Given the description of an element on the screen output the (x, y) to click on. 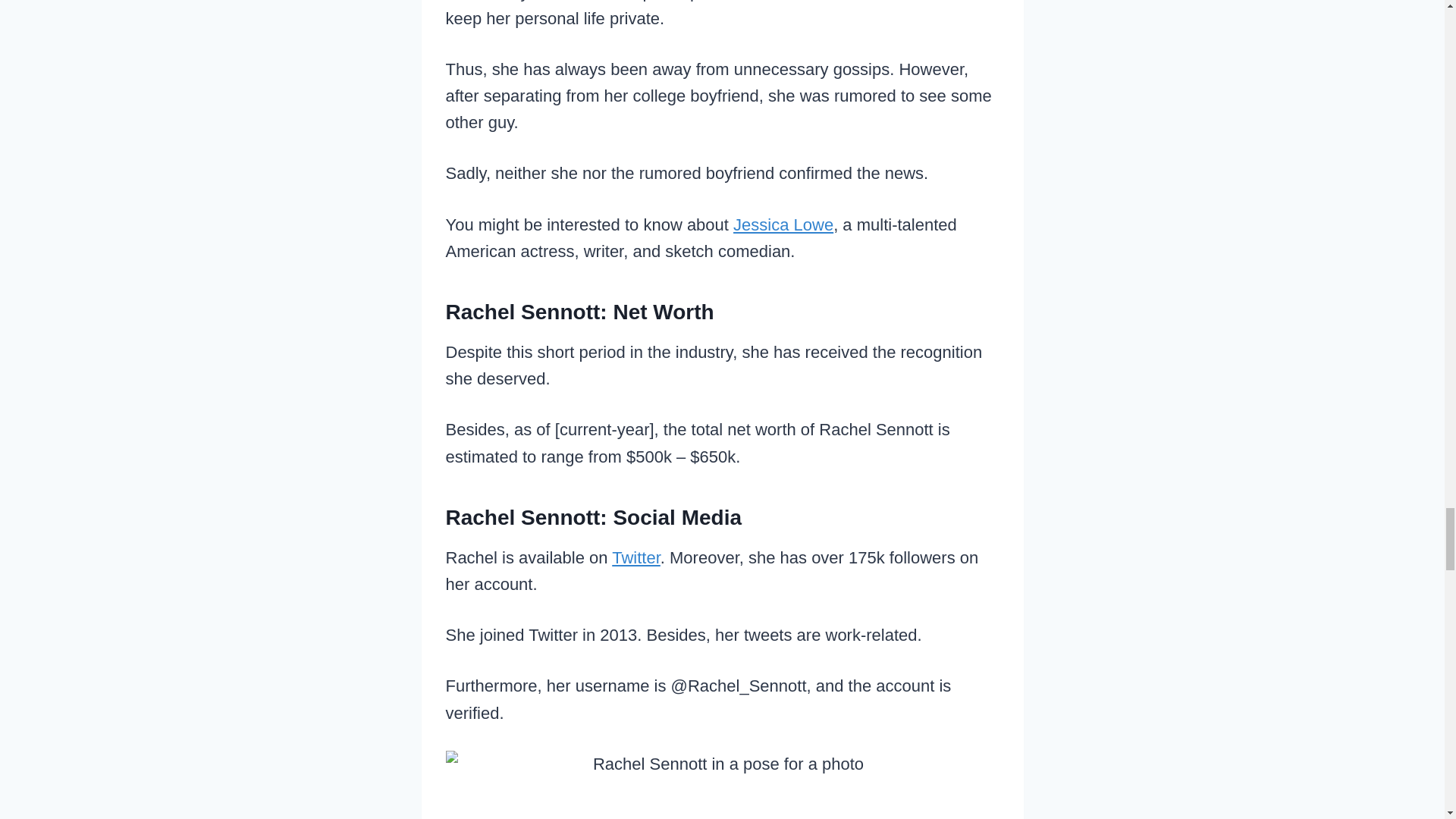
Jessica Lowe (782, 224)
Twitter (636, 557)
